Given the description of an element on the screen output the (x, y) to click on. 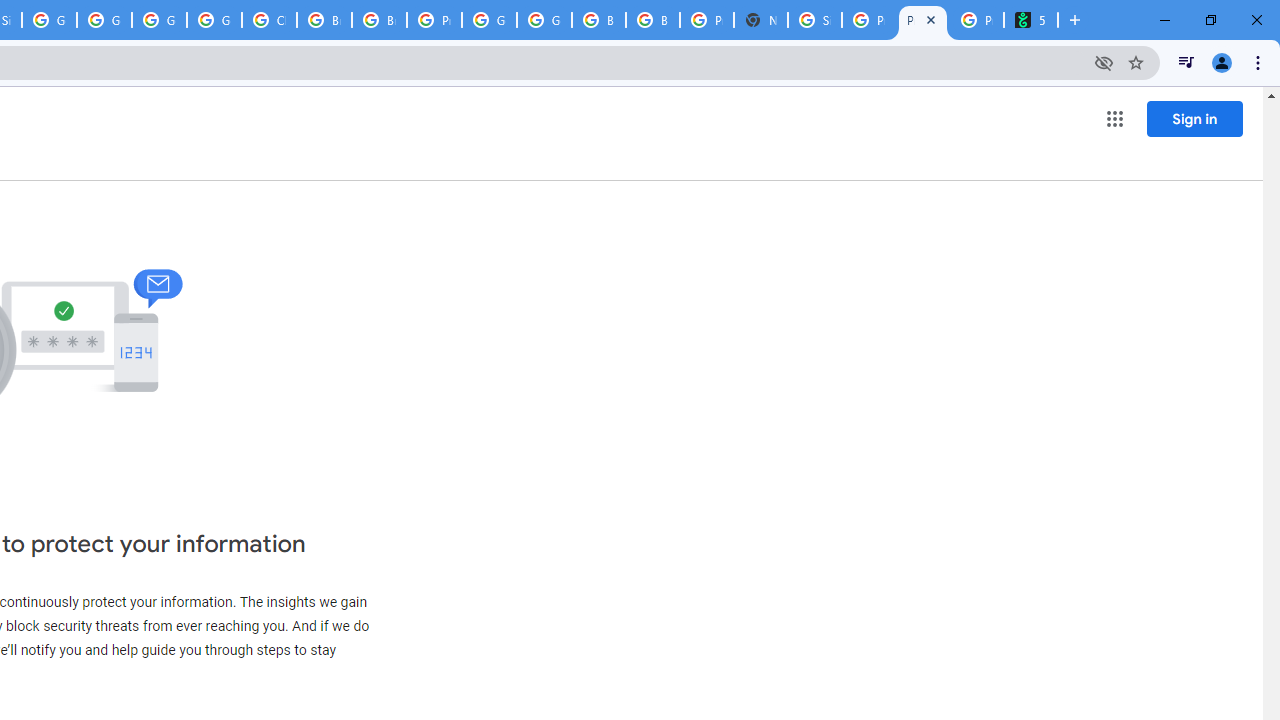
Google Cloud Platform (544, 20)
Browse Chrome as a guest - Computer - Google Chrome Help (598, 20)
